Given the description of an element on the screen output the (x, y) to click on. 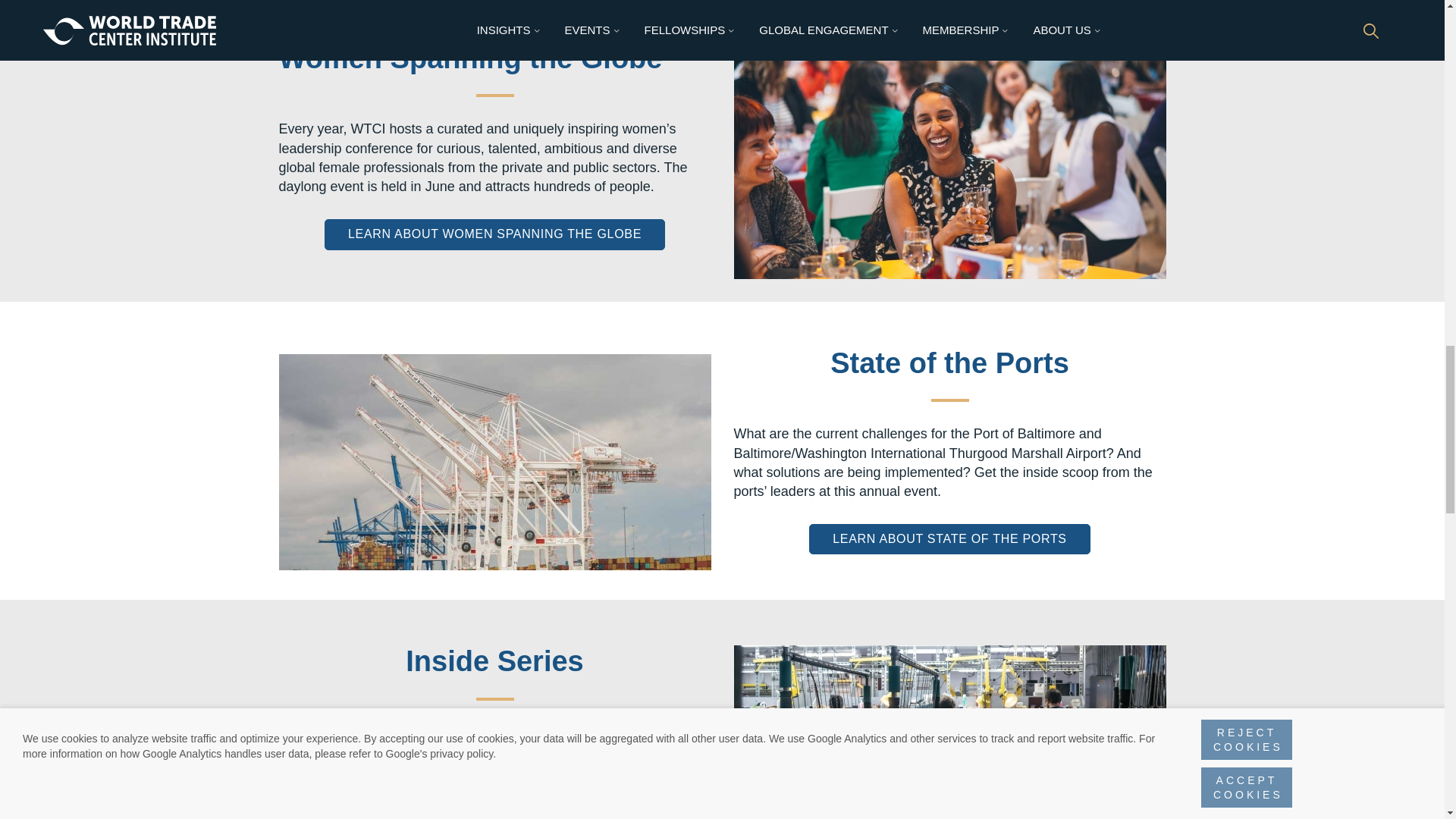
Inside PRS (949, 756)
Container Ship at Sea (495, 461)
